Given the description of an element on the screen output the (x, y) to click on. 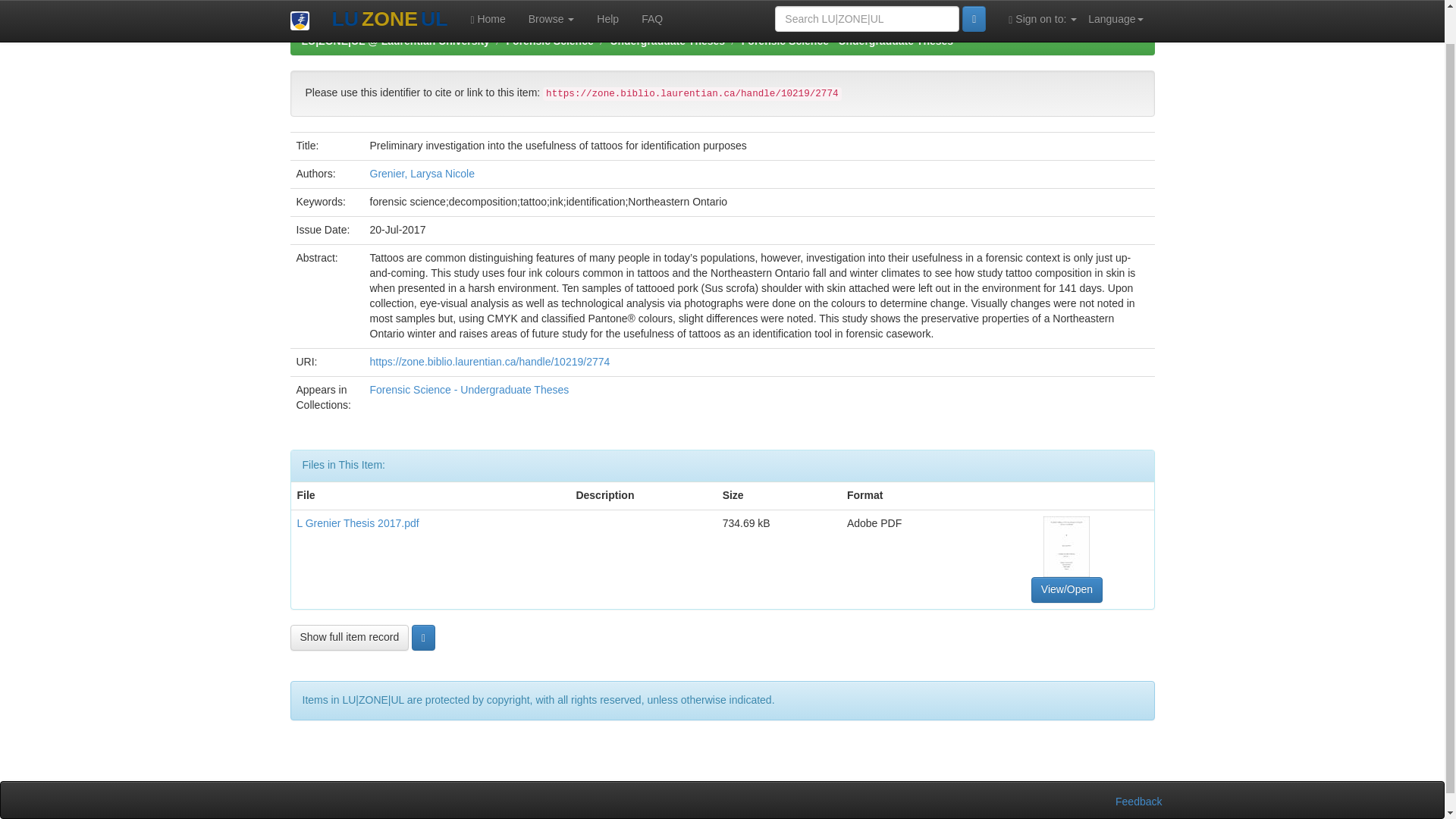
Forensic Science - Undergraduate Theses (469, 389)
Show full item record (349, 637)
Browse (551, 0)
Help (607, 0)
FAQ (652, 0)
Home (487, 0)
Forensic Science - Undergraduate Theses (847, 40)
Forensic Science (550, 40)
Sign on to: (1042, 0)
Grenier, Larysa Nicole (422, 173)
Language (1115, 0)
LU ZONE UL (389, 2)
Undergraduate Theses (667, 40)
L Grenier Thesis 2017.pdf (358, 522)
